Given the description of an element on the screen output the (x, y) to click on. 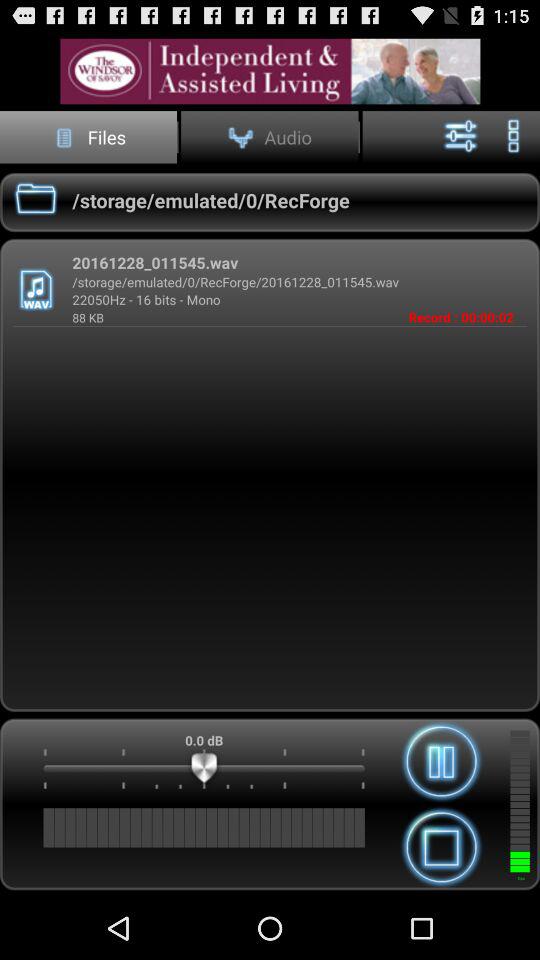
share the article (270, 70)
